Given the description of an element on the screen output the (x, y) to click on. 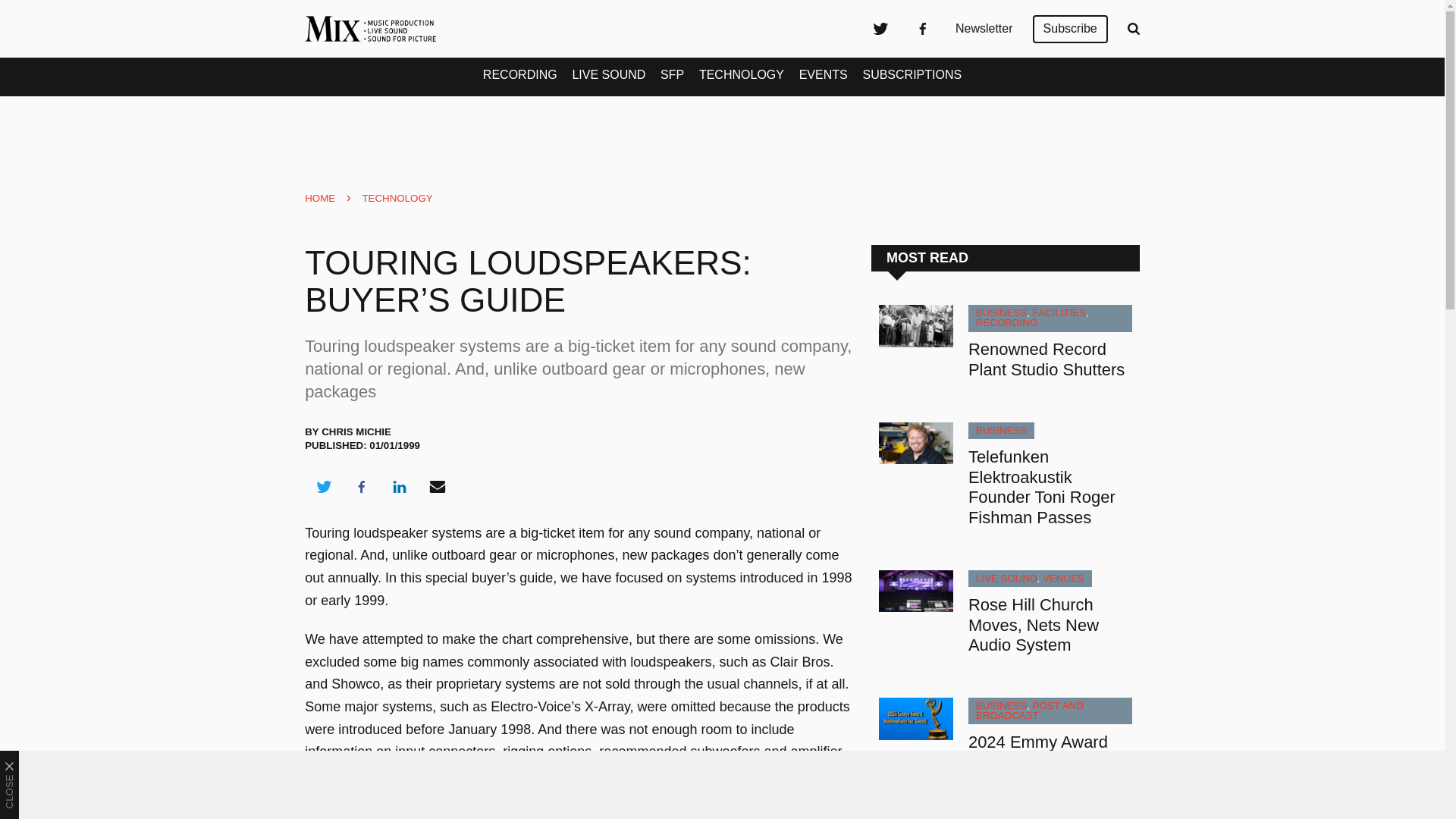
Share on Facebook (361, 486)
Share via Email (438, 486)
Share on Twitter (323, 486)
Share on LinkedIn (399, 486)
